Given the description of an element on the screen output the (x, y) to click on. 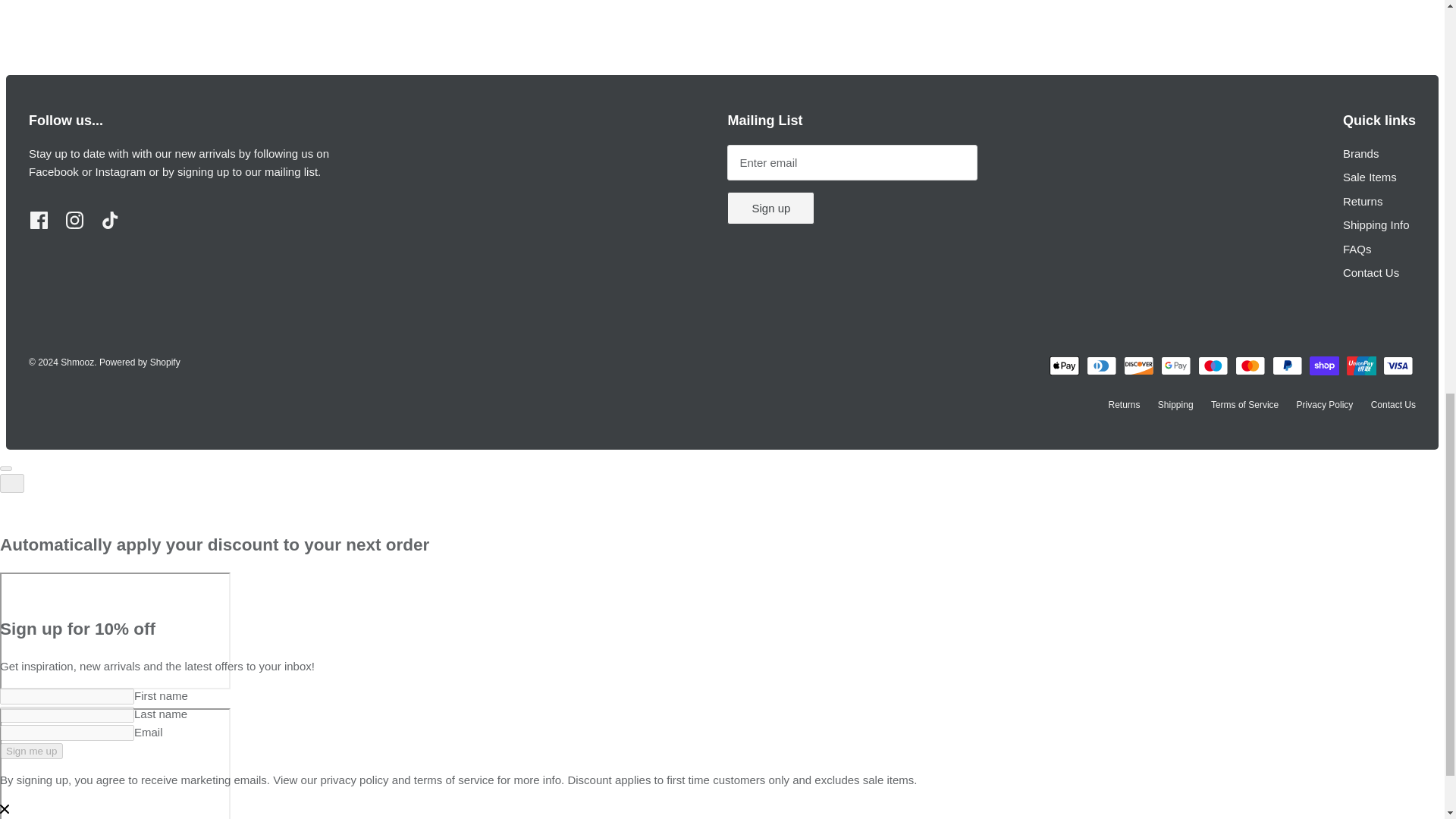
Shmooz Instagram (121, 171)
Union Pay (1361, 365)
Apple Pay (1063, 365)
Shmooz Facebook (53, 171)
Maestro (1213, 365)
Diners Club (1101, 365)
Mastercard (1249, 365)
PayPal (1287, 365)
Google Pay (1175, 365)
Facebook (39, 220)
Instagram (73, 220)
Visa (1398, 365)
Discover (1138, 365)
Shop Pay (1323, 365)
